Given the description of an element on the screen output the (x, y) to click on. 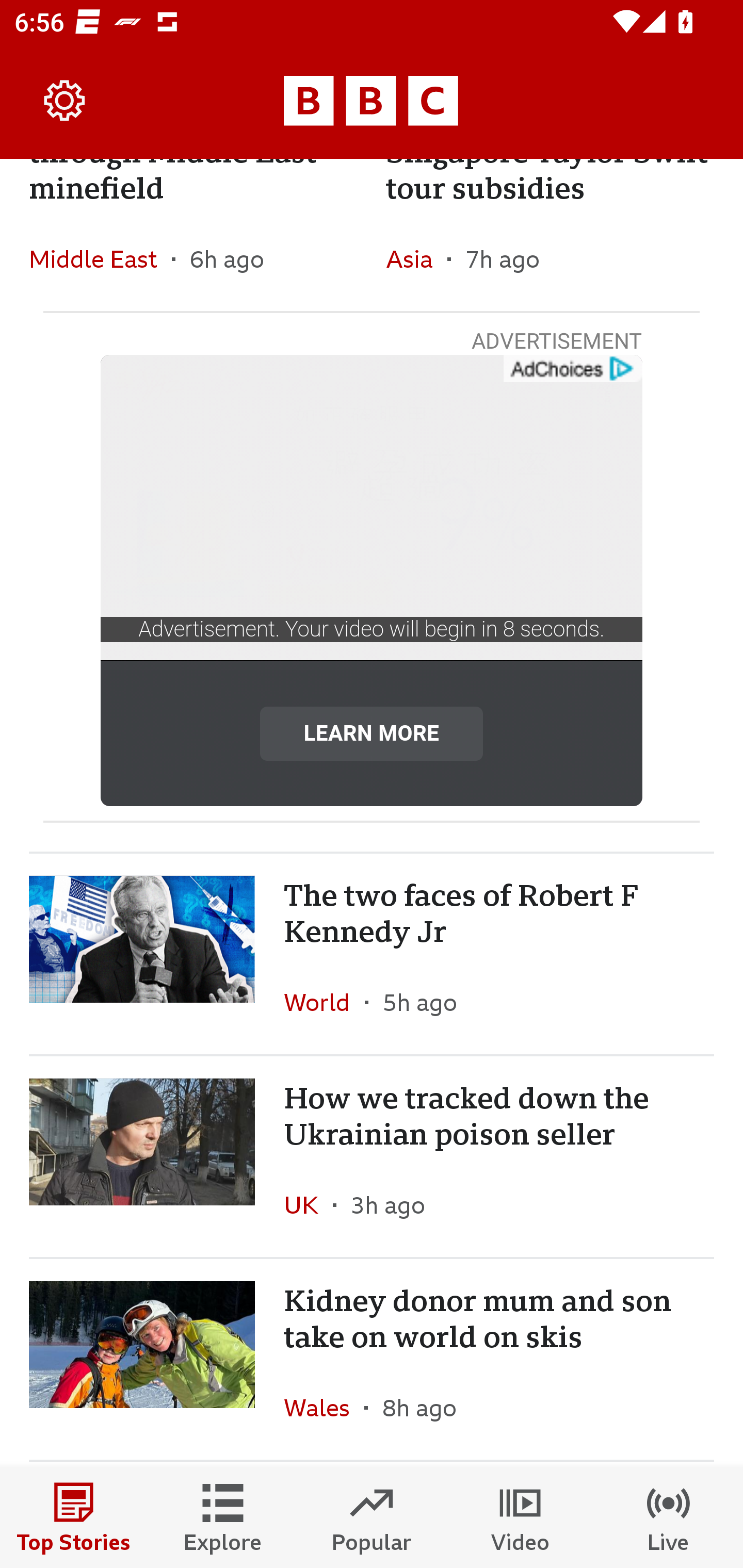
Settings (64, 100)
Middle East In the section Middle East (99, 258)
Asia In the section Asia (416, 258)
get?name=admarker-full-tl (571, 369)
LEARN MORE (371, 732)
World In the section World (323, 1001)
UK In the section UK (307, 1204)
Wales In the section Wales (323, 1406)
Explore (222, 1517)
Popular (371, 1517)
Video (519, 1517)
Live (668, 1517)
